Given the description of an element on the screen output the (x, y) to click on. 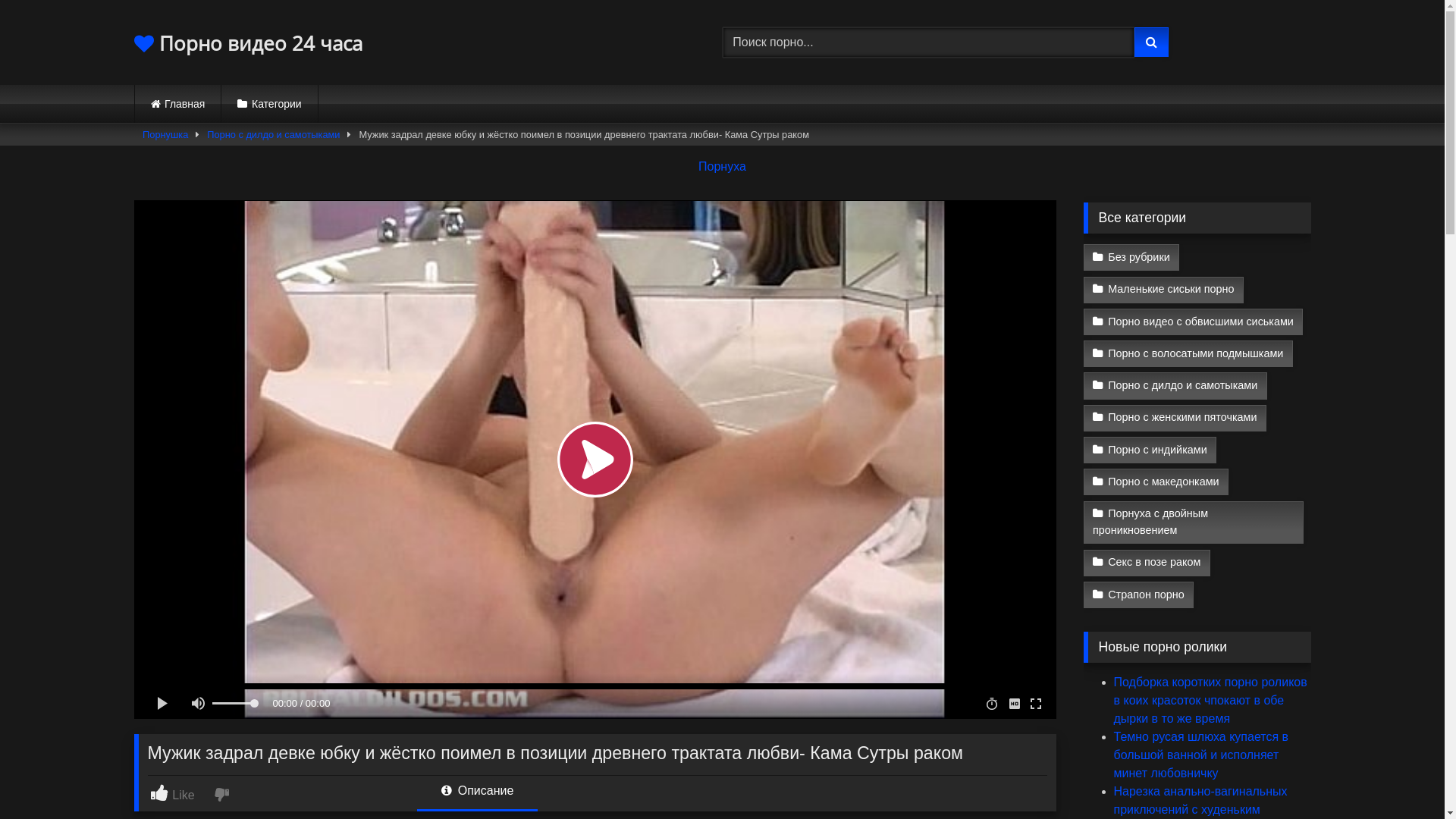
I dislike this Element type: hover (223, 793)
Skip to content Element type: text (0, 0)
Like Element type: text (180, 793)
